Given the description of an element on the screen output the (x, y) to click on. 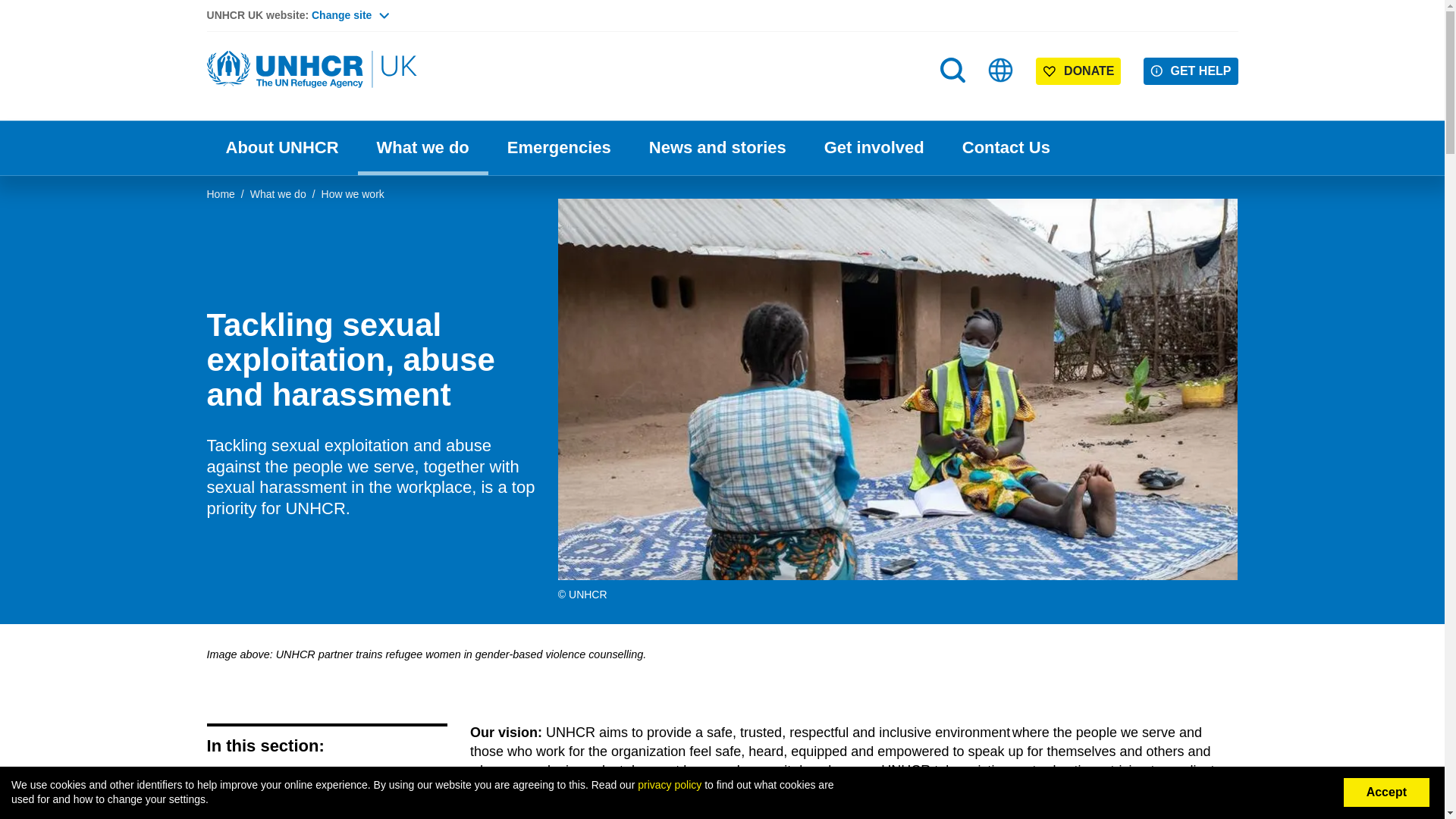
GET HELP (1189, 71)
DONATE (1078, 71)
About UNHCR (281, 148)
Search (954, 99)
Change site (349, 15)
Home (312, 69)
Search (952, 69)
Sites (1000, 69)
Skip to main content (721, 1)
